Given the description of an element on the screen output the (x, y) to click on. 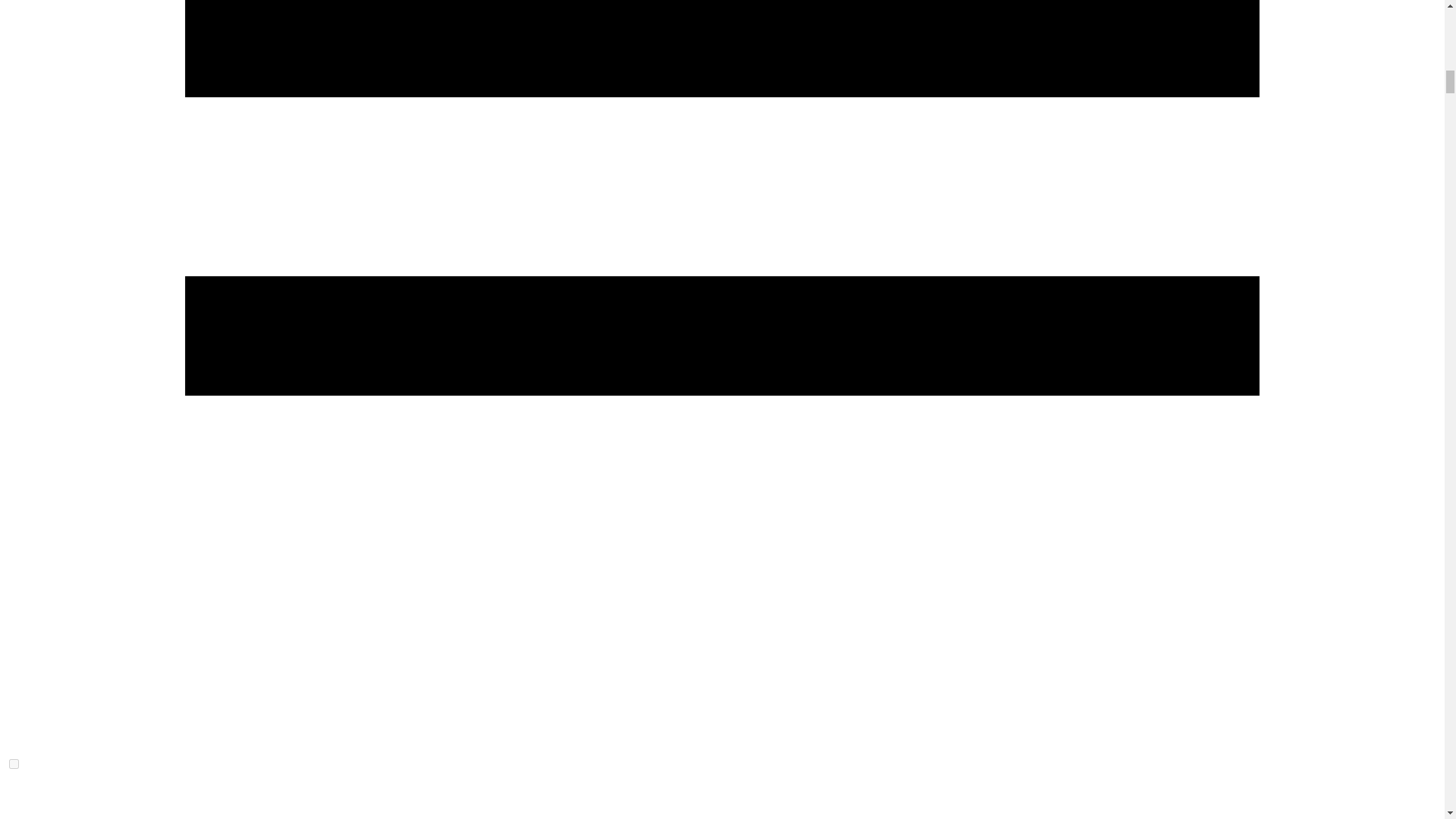
on (13, 764)
